Given the description of an element on the screen output the (x, y) to click on. 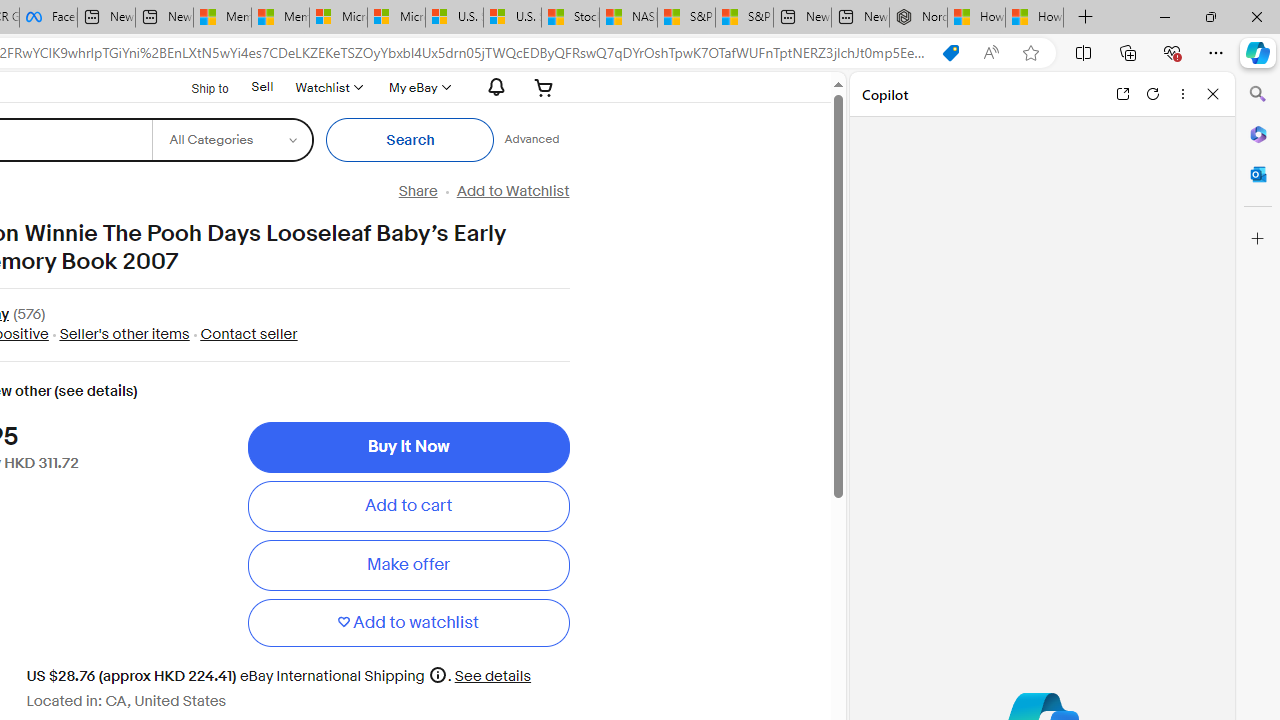
Microsoft 365 (1258, 133)
Sell (261, 87)
Make offer (408, 565)
Buy It Now (408, 447)
Add to watchlist (408, 622)
Add to watchlist (408, 622)
Contact seller (248, 334)
S&P 500, Nasdaq end lower, weighed by Nvidia dip | Watch (744, 17)
  Contact seller (243, 334)
Customize (1258, 239)
